Given the description of an element on the screen output the (x, y) to click on. 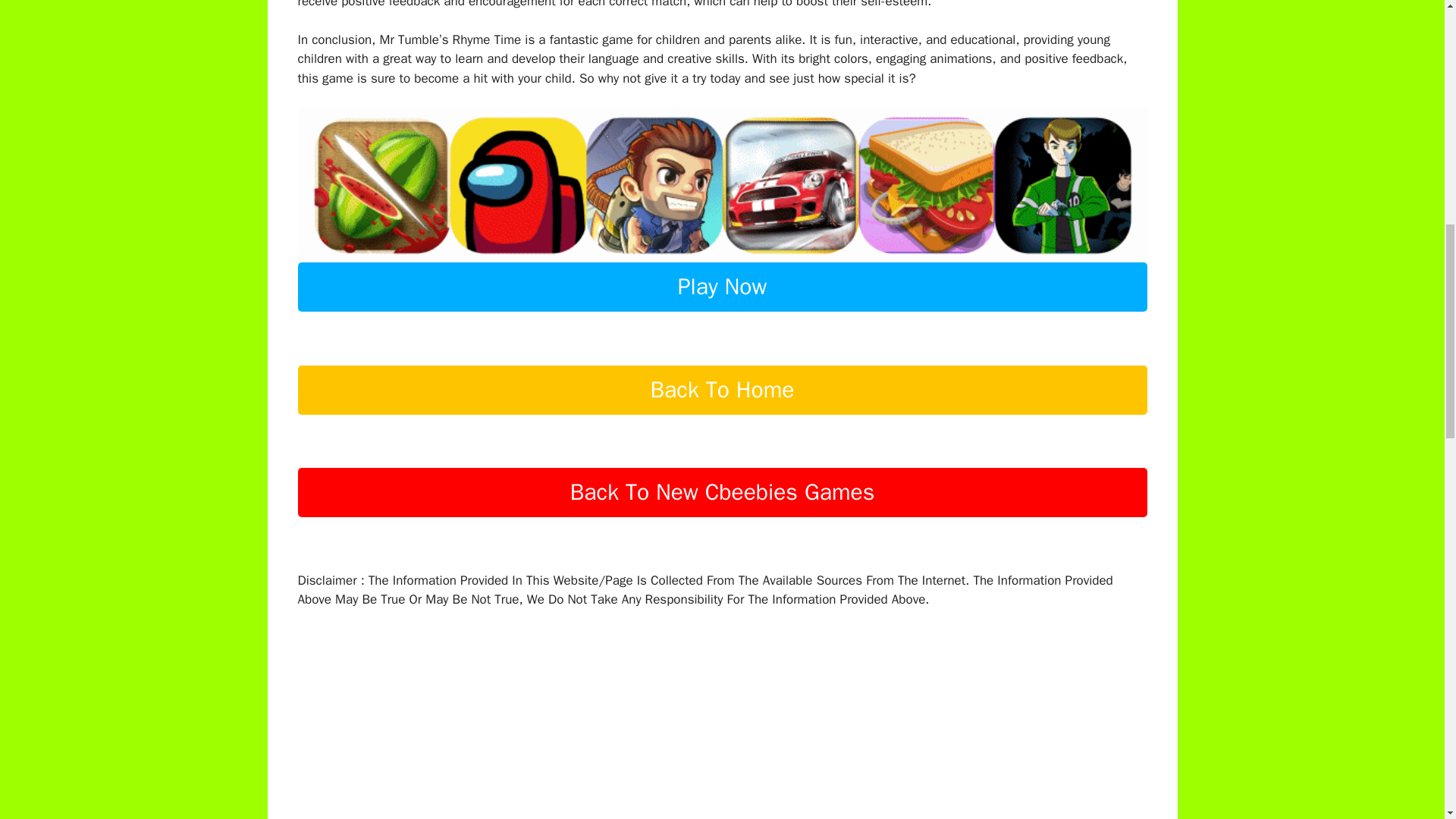
Back To Home (722, 415)
Back To New Cbeebies Games (722, 517)
Play Now (722, 312)
